Given the description of an element on the screen output the (x, y) to click on. 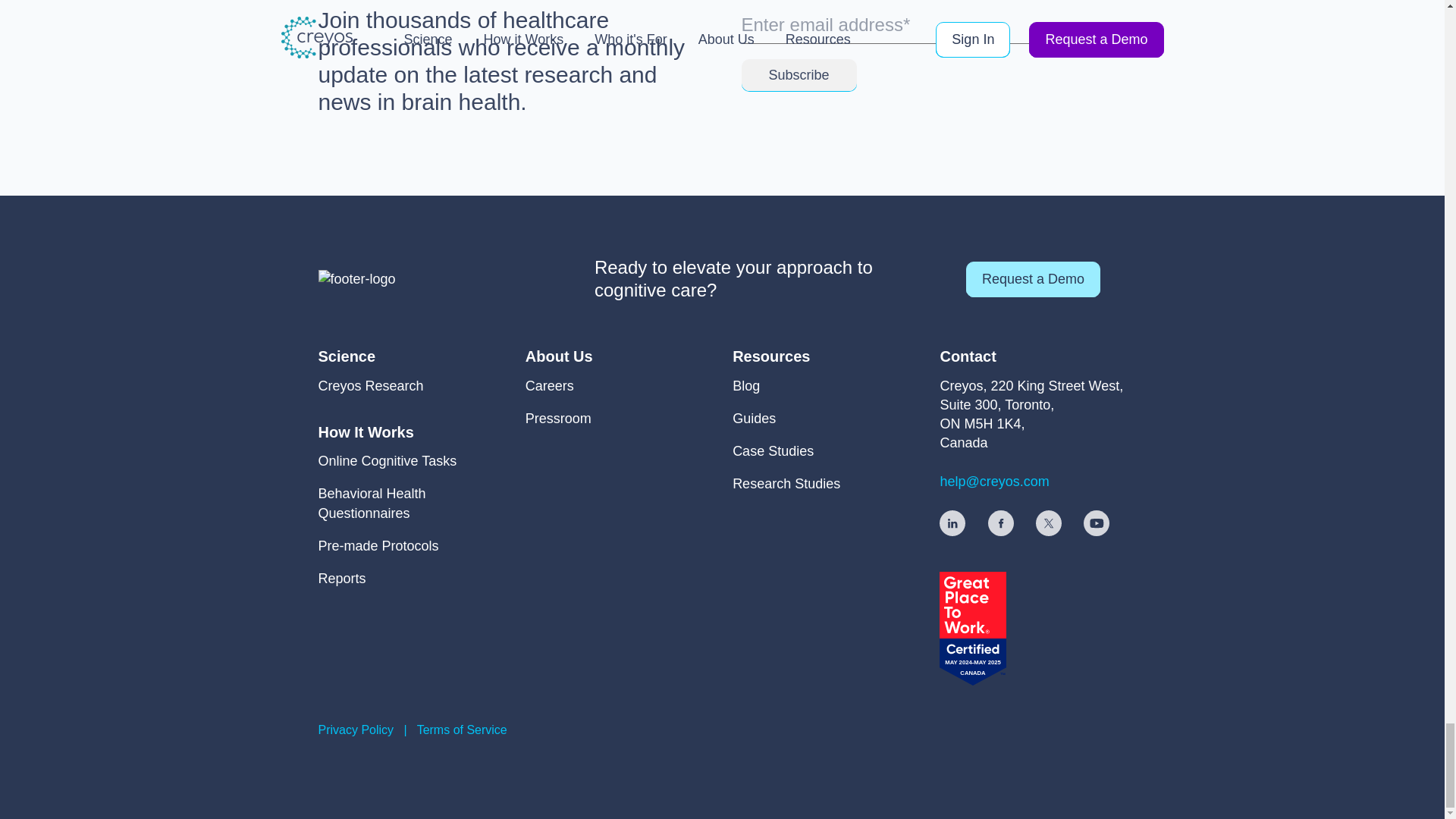
footer-logo (357, 279)
Request a Demo (1033, 279)
facebook-icon (1000, 523)
x-icon (1048, 523)
Subscribe (799, 74)
linkedin-icon (952, 523)
youtube-icon (1096, 523)
